Given the description of an element on the screen output the (x, y) to click on. 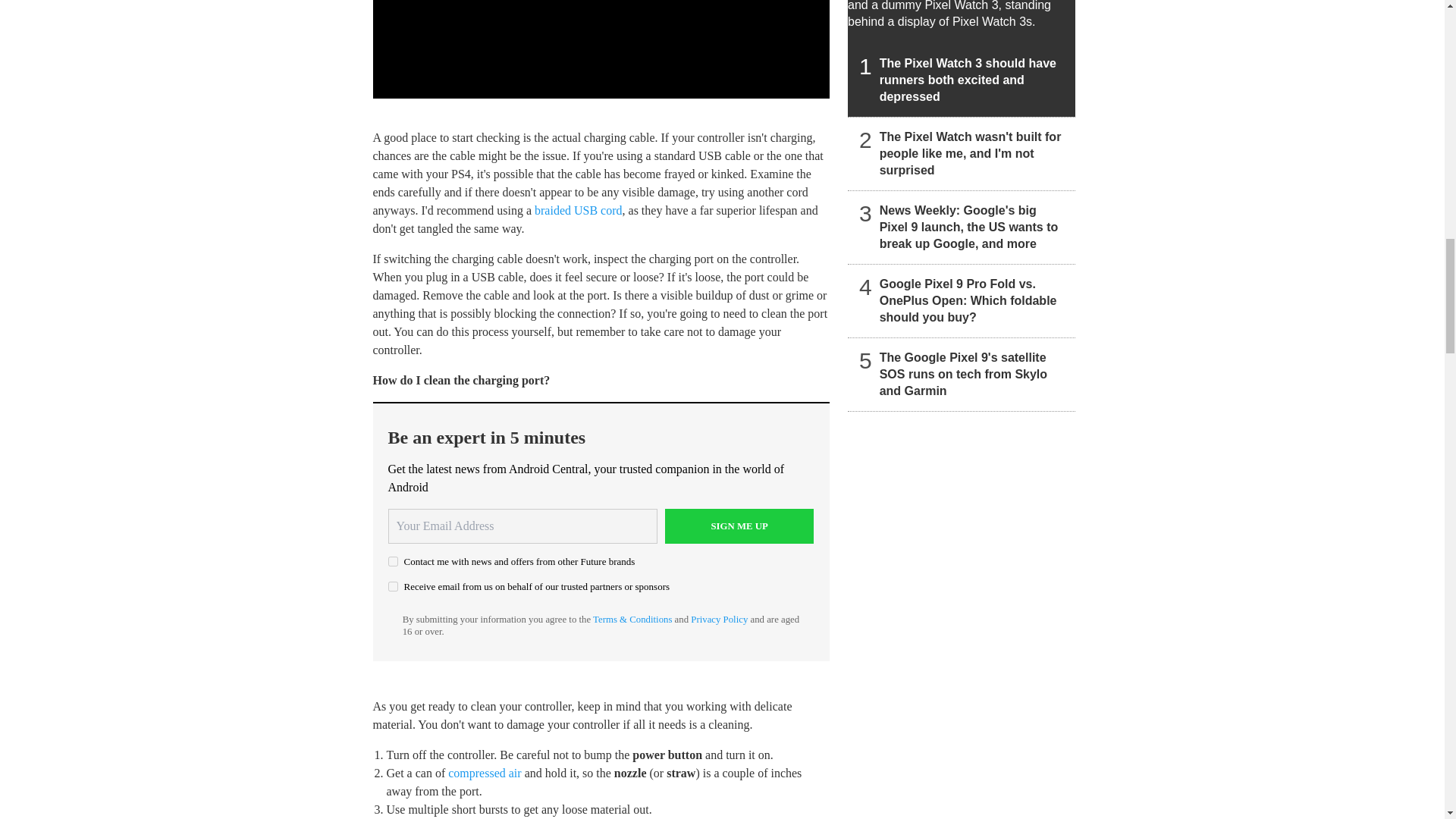
on (392, 586)
Sign me up (739, 525)
on (392, 561)
